Given the description of an element on the screen output the (x, y) to click on. 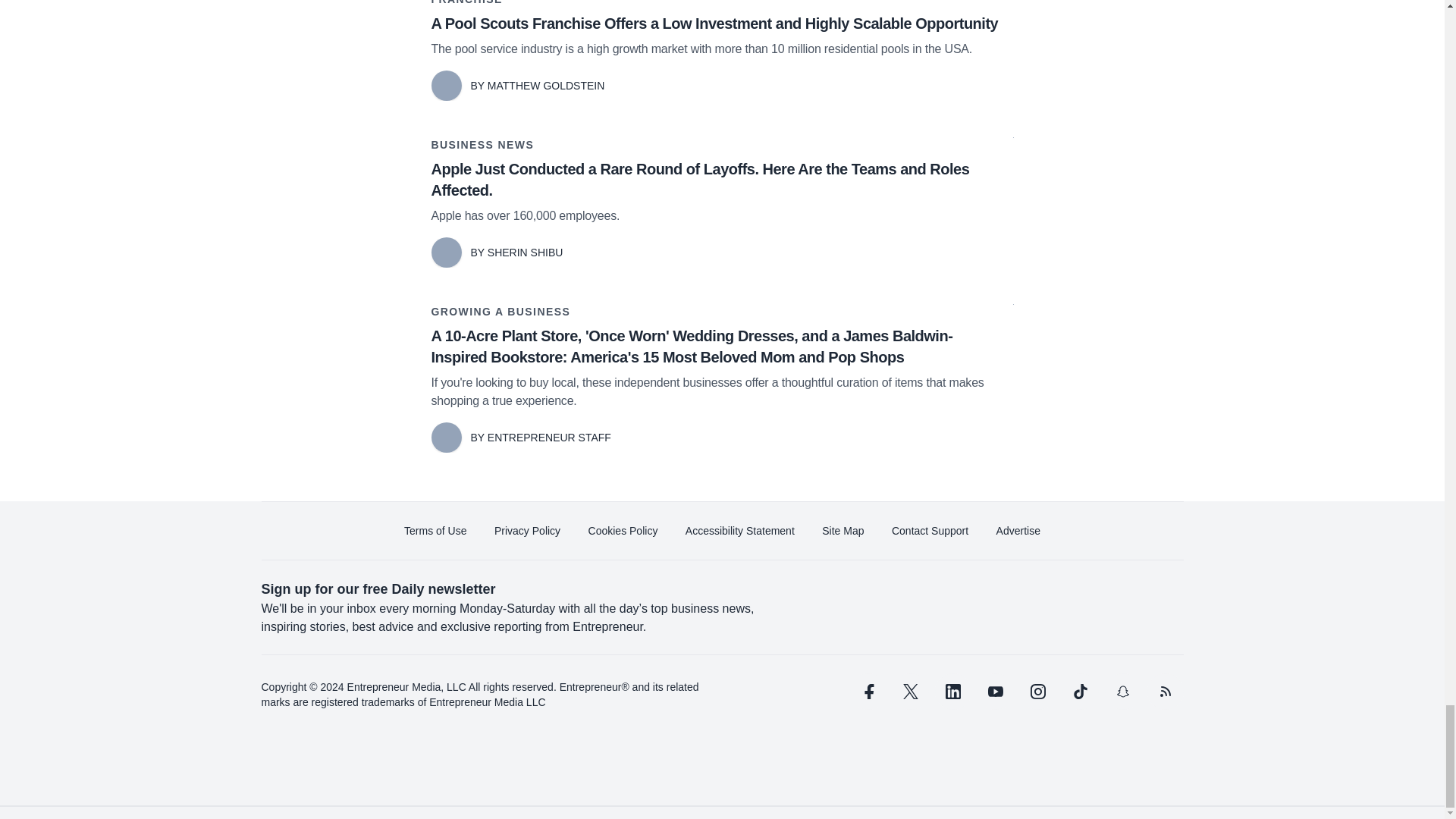
facebook (866, 691)
tiktok (1079, 691)
linkedin (952, 691)
instagram (1037, 691)
youtube (994, 691)
twitter (909, 691)
snapchat (1121, 691)
